Given the description of an element on the screen output the (x, y) to click on. 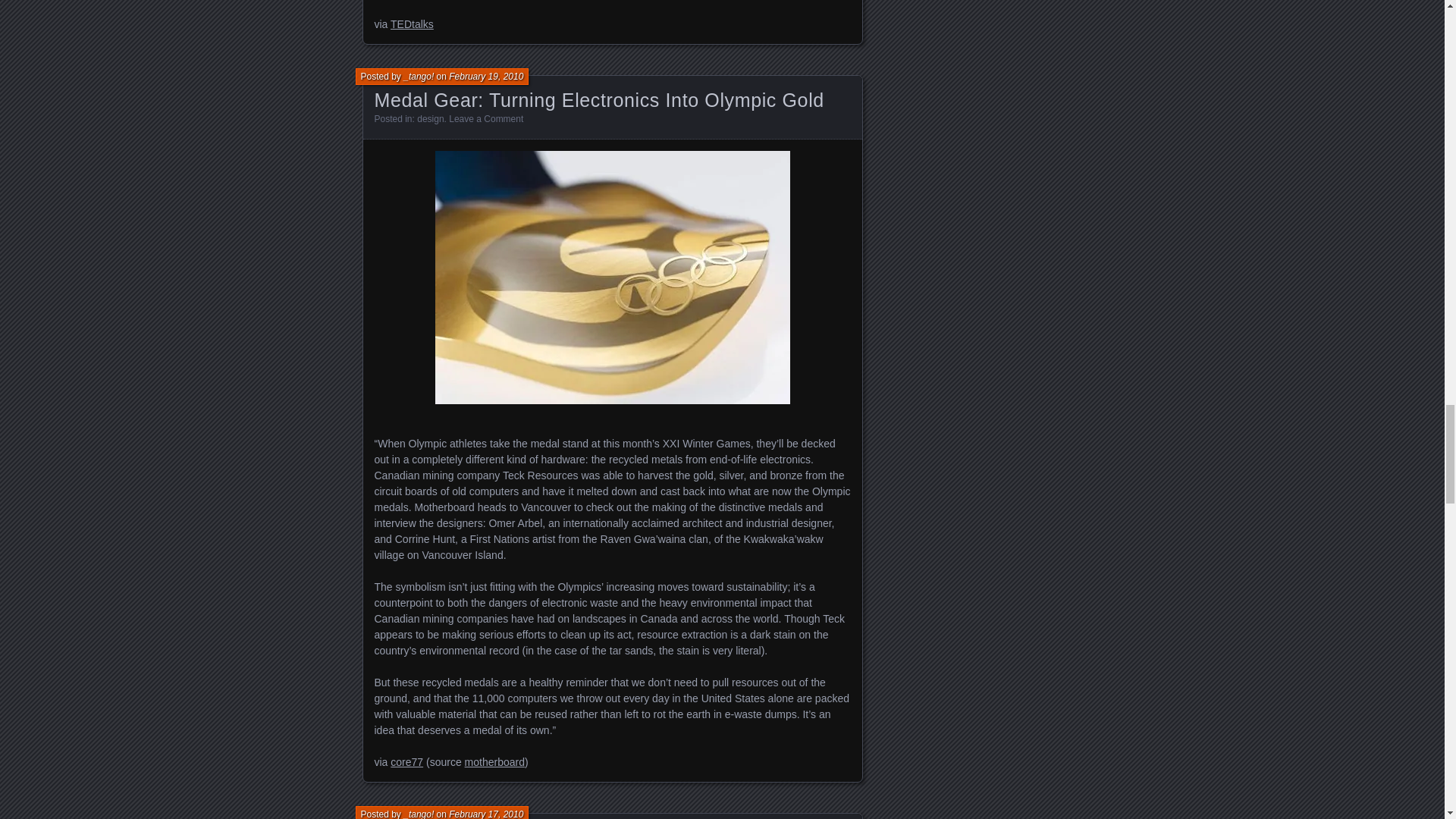
2010.olympic.medal (612, 277)
